Given the description of an element on the screen output the (x, y) to click on. 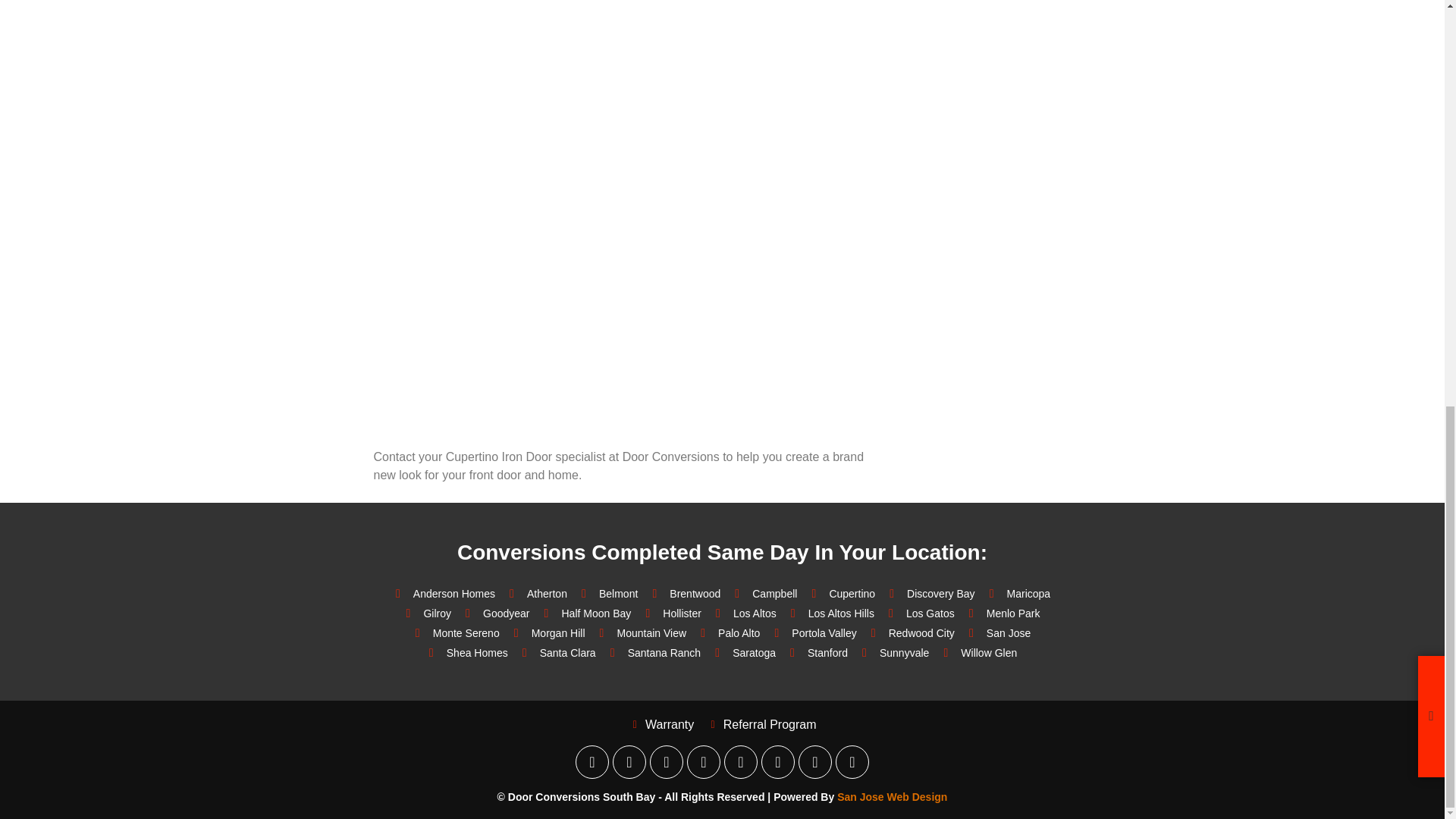
Los Altos (743, 613)
Anderson Homes (442, 593)
Los Gatos (919, 613)
Goodyear (494, 613)
Gilroy (425, 613)
Monte Sereno (454, 632)
Hollister (670, 613)
Menlo Park (1002, 613)
Brentwood (683, 593)
